Given the description of an element on the screen output the (x, y) to click on. 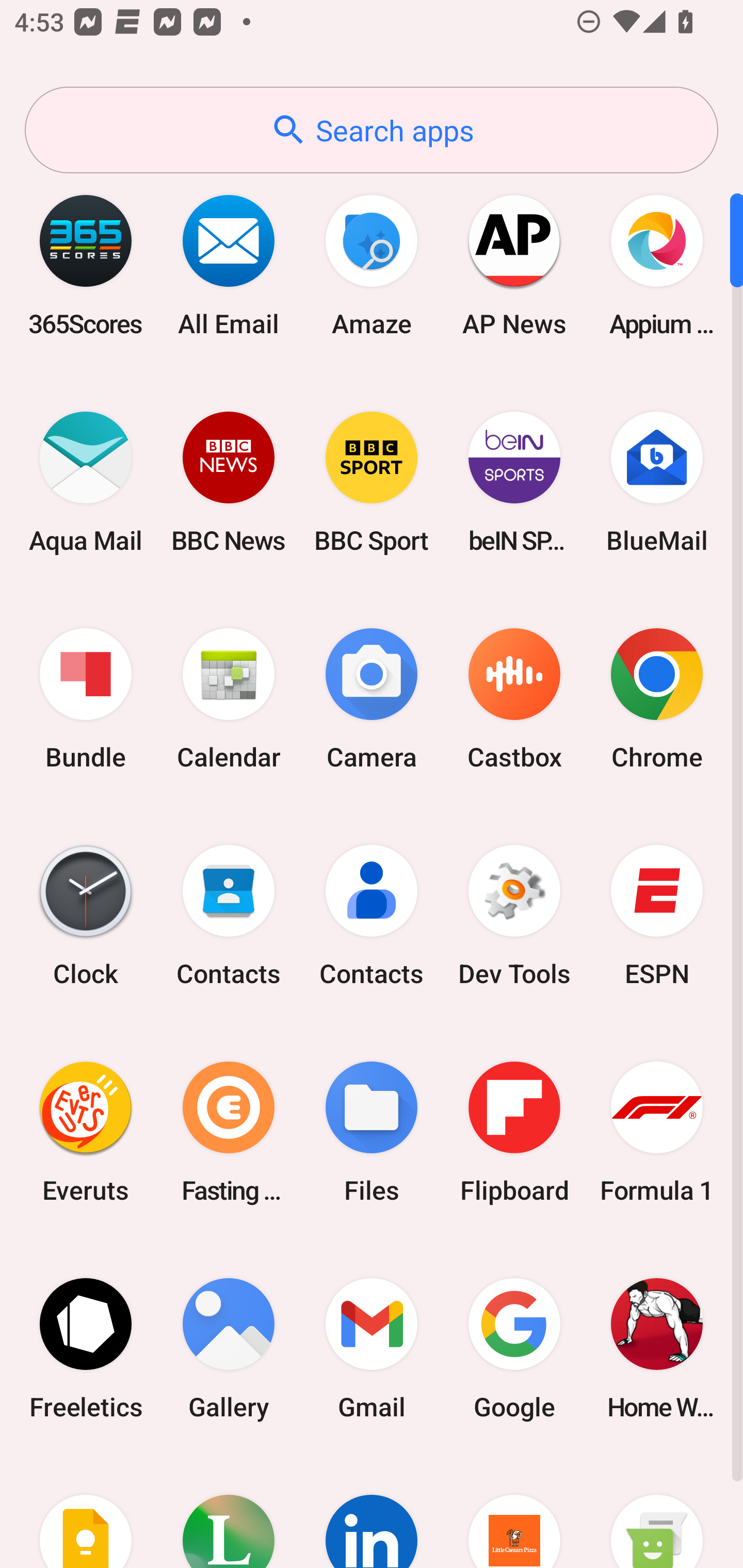
  Search apps (371, 130)
365Scores (85, 264)
All Email (228, 264)
Amaze (371, 264)
AP News (514, 264)
Appium Settings (656, 264)
Aqua Mail (85, 482)
BBC News (228, 482)
BBC Sport (371, 482)
beIN SPORTS (514, 482)
BlueMail (656, 482)
Bundle (85, 699)
Calendar (228, 699)
Camera (371, 699)
Castbox (514, 699)
Chrome (656, 699)
Clock (85, 915)
Contacts (228, 915)
Contacts (371, 915)
Dev Tools (514, 915)
ESPN (656, 915)
Everuts (85, 1131)
Fasting Coach (228, 1131)
Files (371, 1131)
Flipboard (514, 1131)
Formula 1 (656, 1131)
Freeletics (85, 1348)
Gallery (228, 1348)
Gmail (371, 1348)
Google (514, 1348)
Home Workout (656, 1348)
Keep Notes (85, 1512)
Lifesum (228, 1512)
LinkedIn (371, 1512)
Little Caesars Pizza (514, 1512)
Messaging (656, 1512)
